Given the description of an element on the screen output the (x, y) to click on. 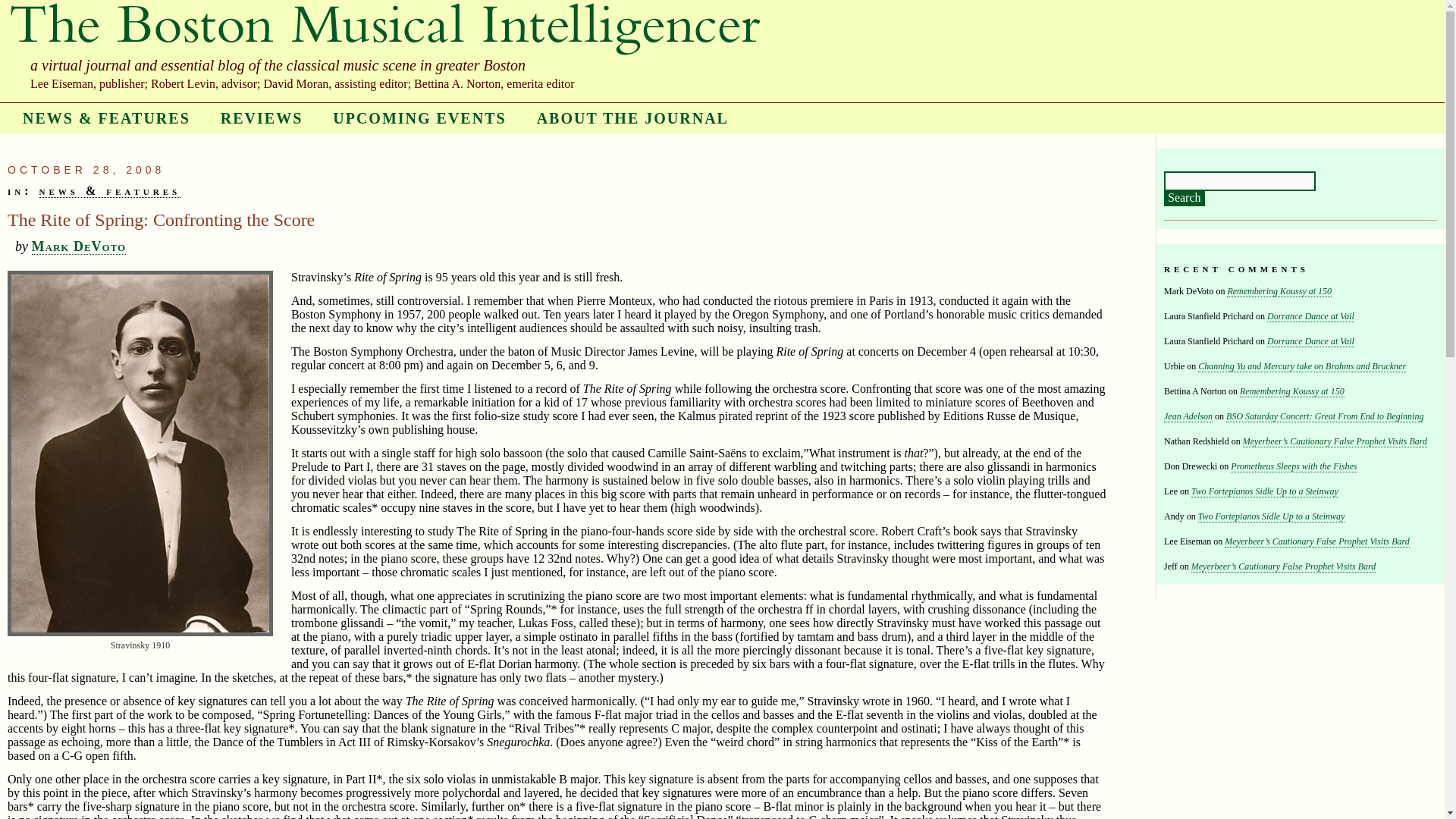
Channing Yu and Mercury take on Brahms and Bruckner (1302, 366)
Dorrance Dance at Vail (1310, 341)
Mark DeVoto (79, 246)
Remembering Koussy at 150 (1291, 391)
Dorrance Dance at Vail (1310, 316)
ABOUT THE JOURNAL (632, 118)
Search (1184, 198)
REVIEWS (261, 118)
Mark DeVoto (79, 246)
Two Fortepianos Sidle Up to a Steinway (1271, 516)
Search (1184, 198)
Remembering Koussy at 150 (1279, 291)
Prometheus Sleeps with the Fishes (1293, 466)
Search (1184, 198)
Search for: (1239, 180)
